Given the description of an element on the screen output the (x, y) to click on. 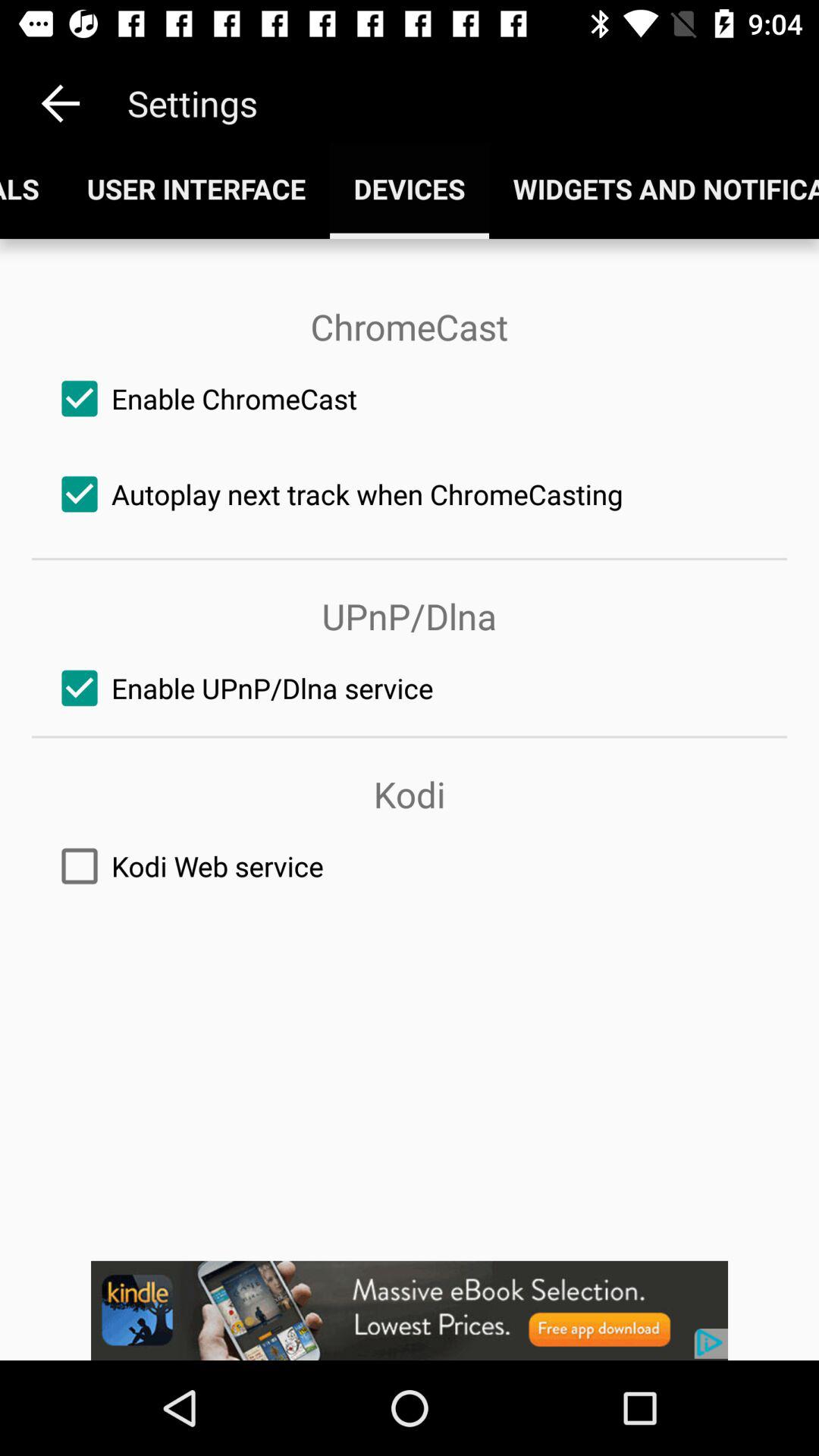
click on the user interface option (196, 188)
click on the third check box (409, 688)
click on the second check box (409, 494)
select the check box under chromecast (409, 398)
select the check box kodi web service on the web page (409, 866)
